Given the description of an element on the screen output the (x, y) to click on. 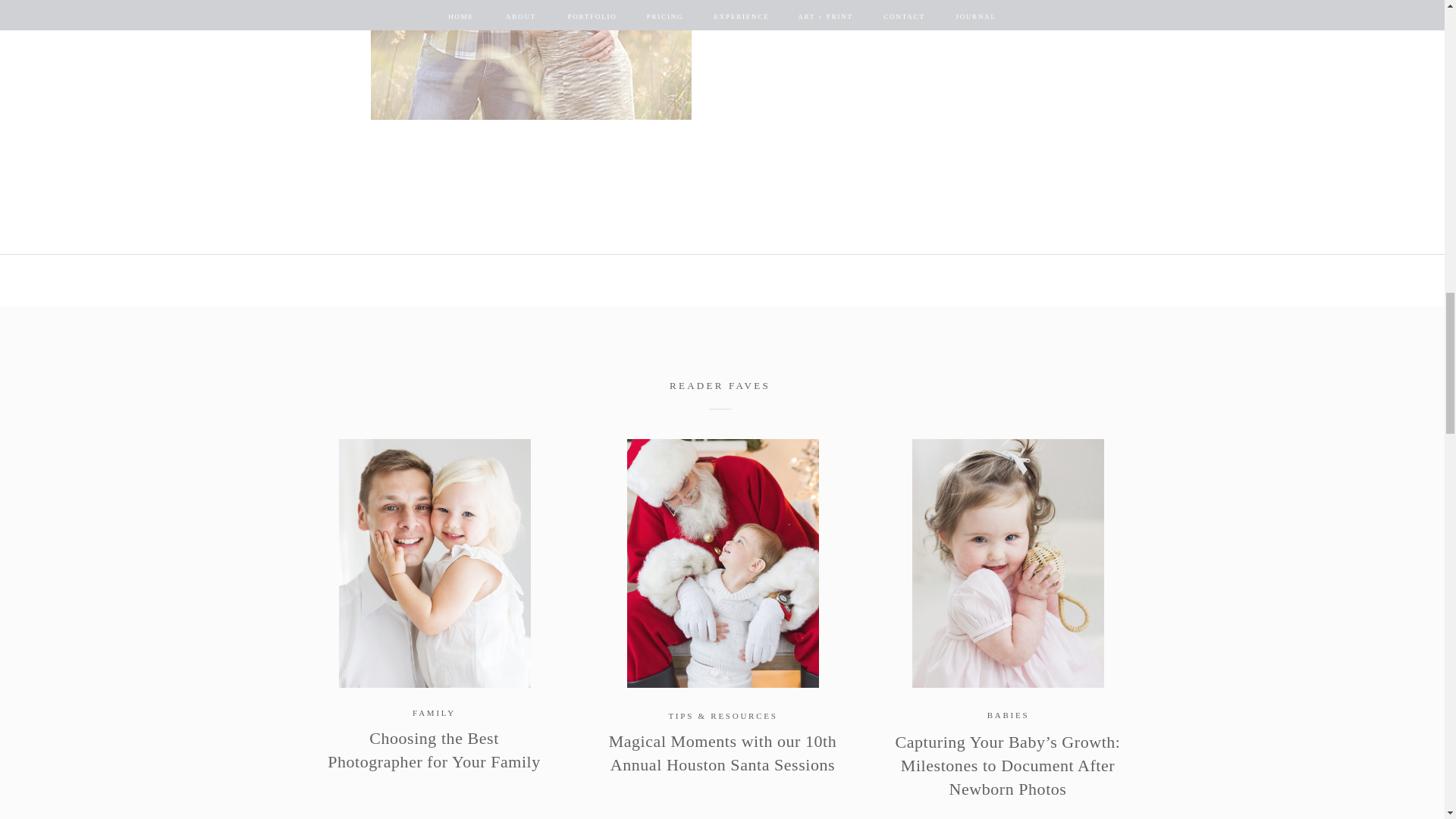
arrow (768, 5)
